Given the description of an element on the screen output the (x, y) to click on. 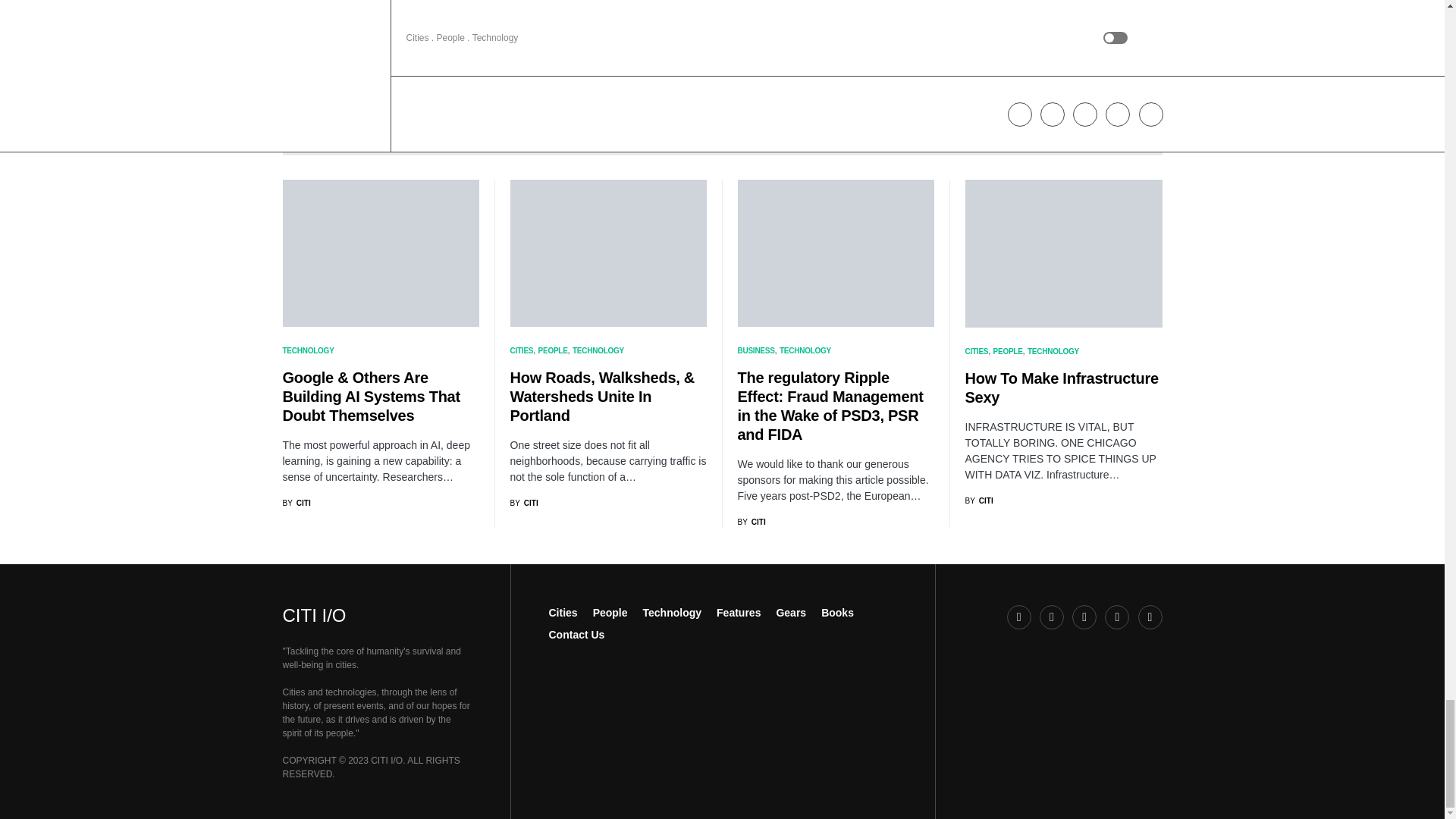
View all posts by citi (523, 502)
View all posts by citi (977, 500)
View all posts by citi (296, 502)
View all posts by citi (750, 521)
